Given the description of an element on the screen output the (x, y) to click on. 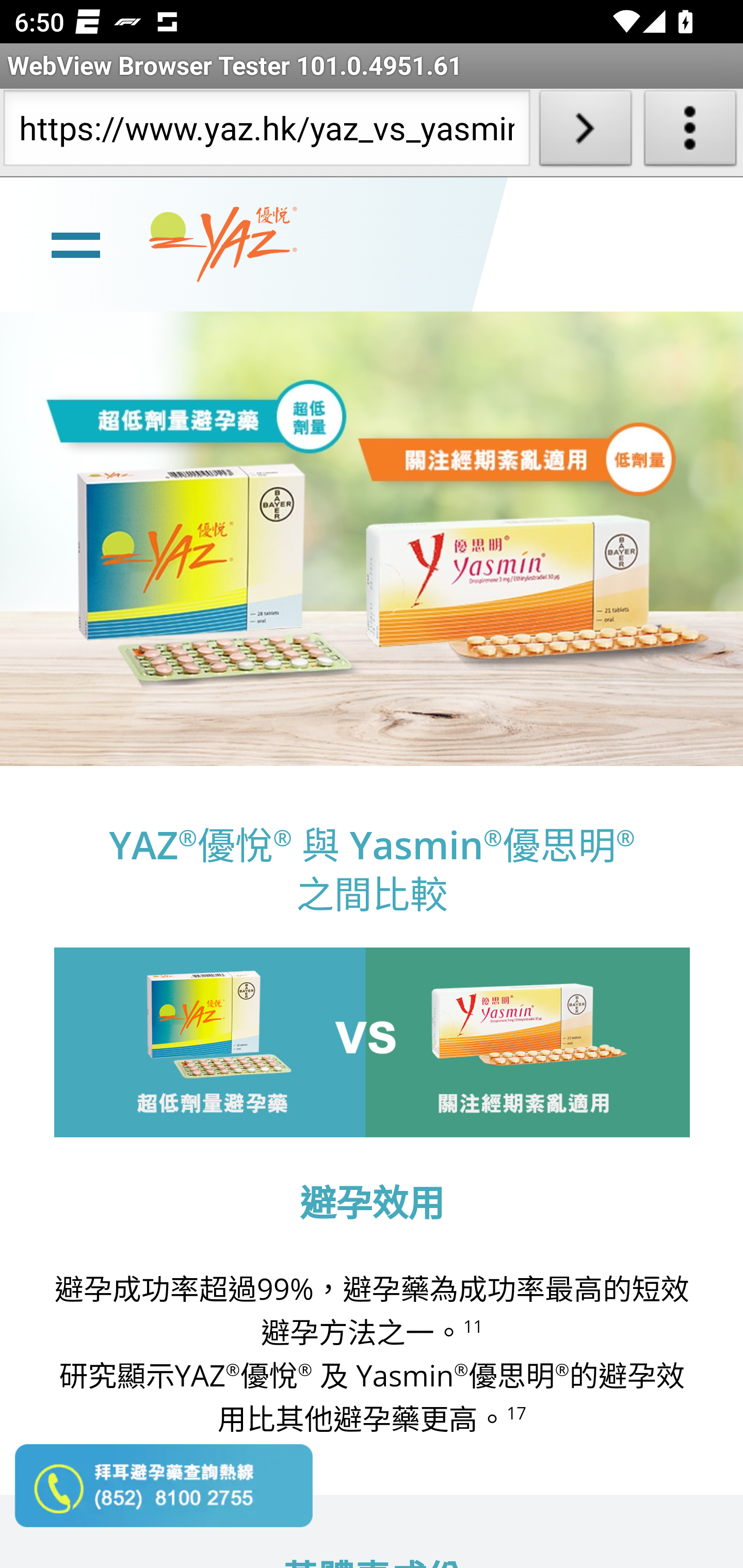
https://www.yaz.hk/yaz_vs_yasmin (266, 132)
Load URL (585, 132)
About WebView (690, 132)
www.yaz (222, 244)
line Toggle burger menu (75, 242)
